Given the description of an element on the screen output the (x, y) to click on. 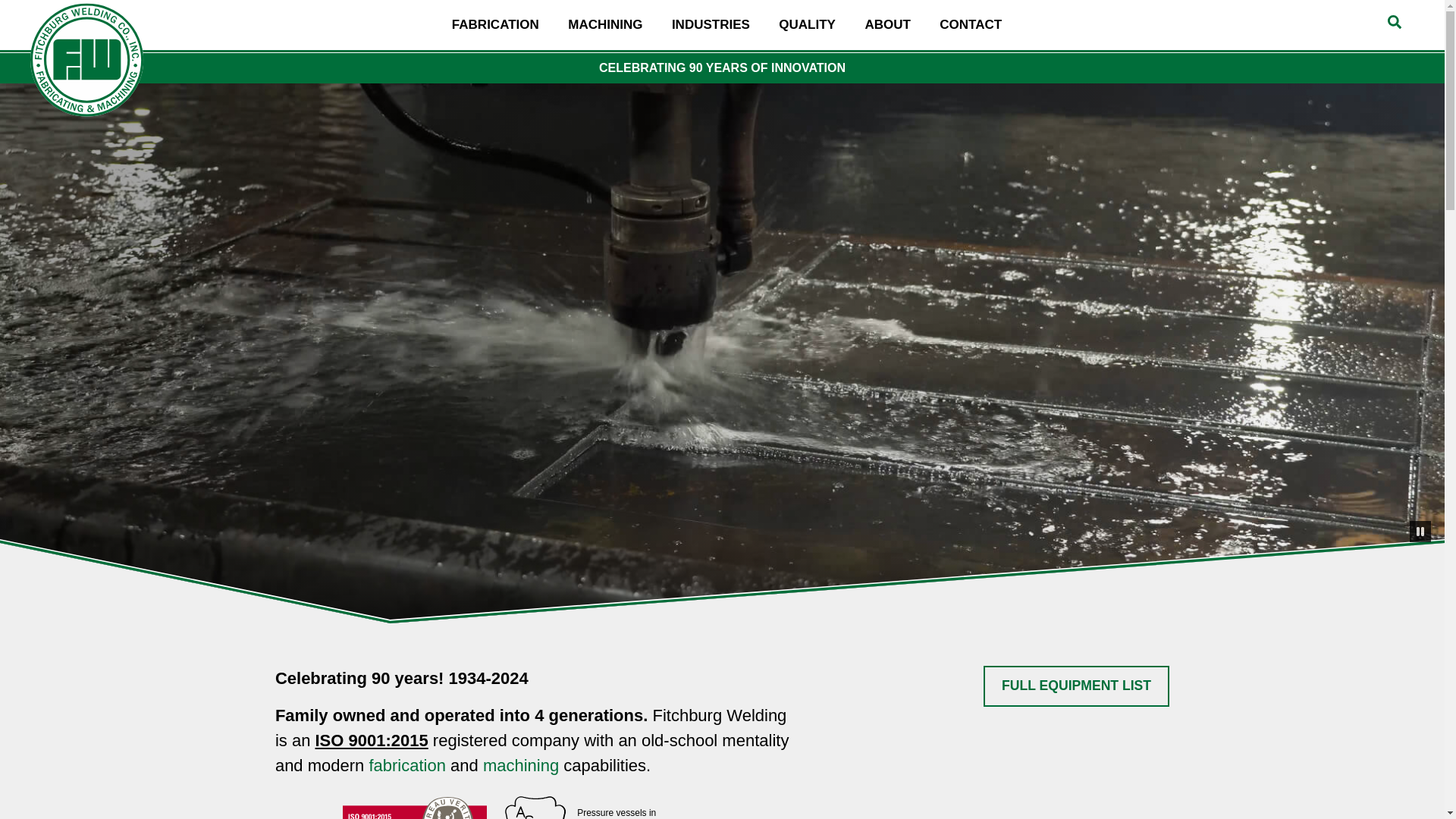
fabrication (406, 764)
ISO 9001:2015 (371, 740)
QUALITY (1076, 686)
machining (806, 24)
ABOUT (521, 764)
CONTACT (887, 24)
MACHINING (970, 24)
Submit search (604, 24)
FABRICATION (1393, 22)
